Given the description of an element on the screen output the (x, y) to click on. 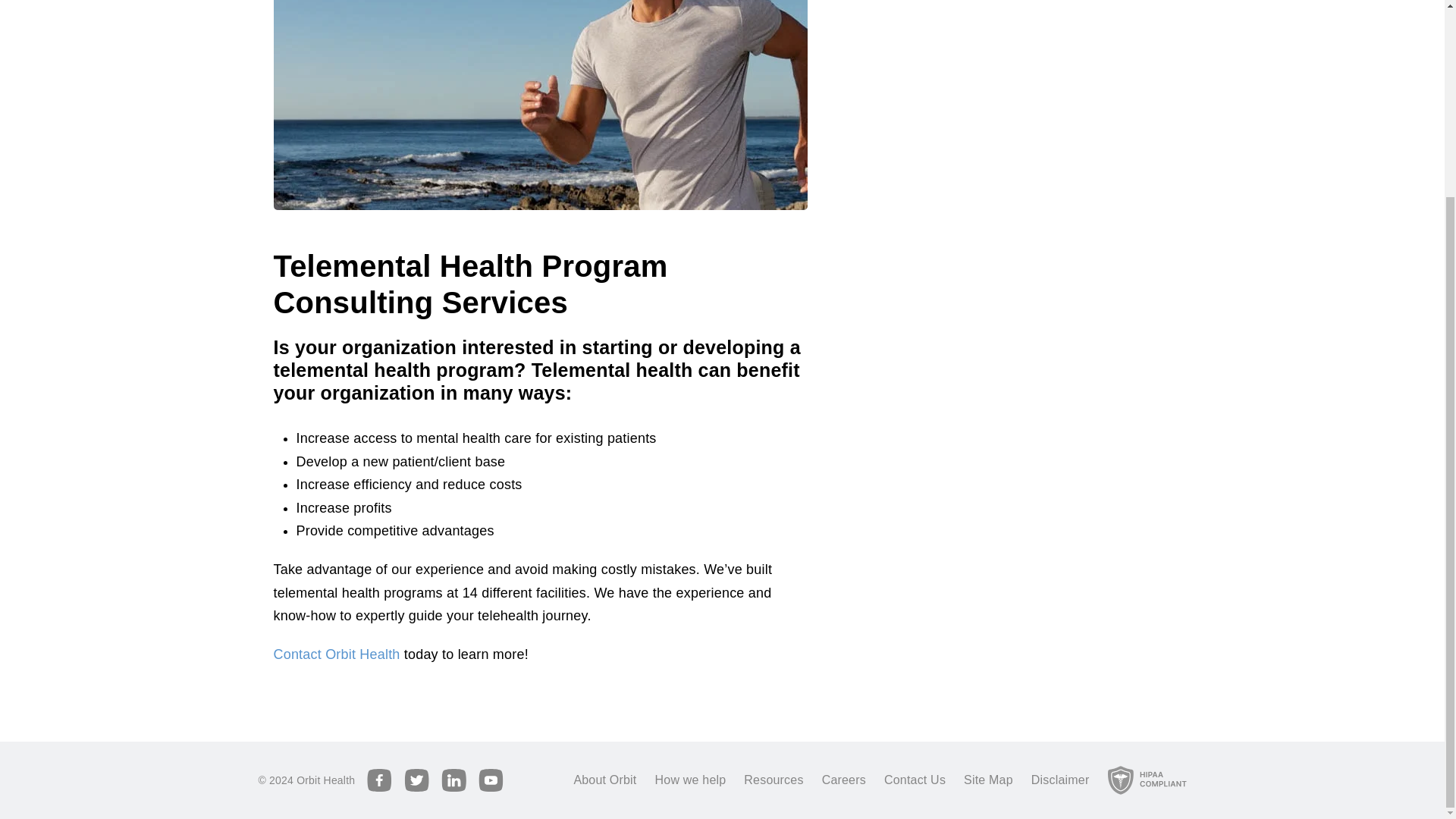
How we help (690, 779)
About Orbit (604, 779)
Resources (773, 779)
Contact Orbit Health (335, 654)
